Given the description of an element on the screen output the (x, y) to click on. 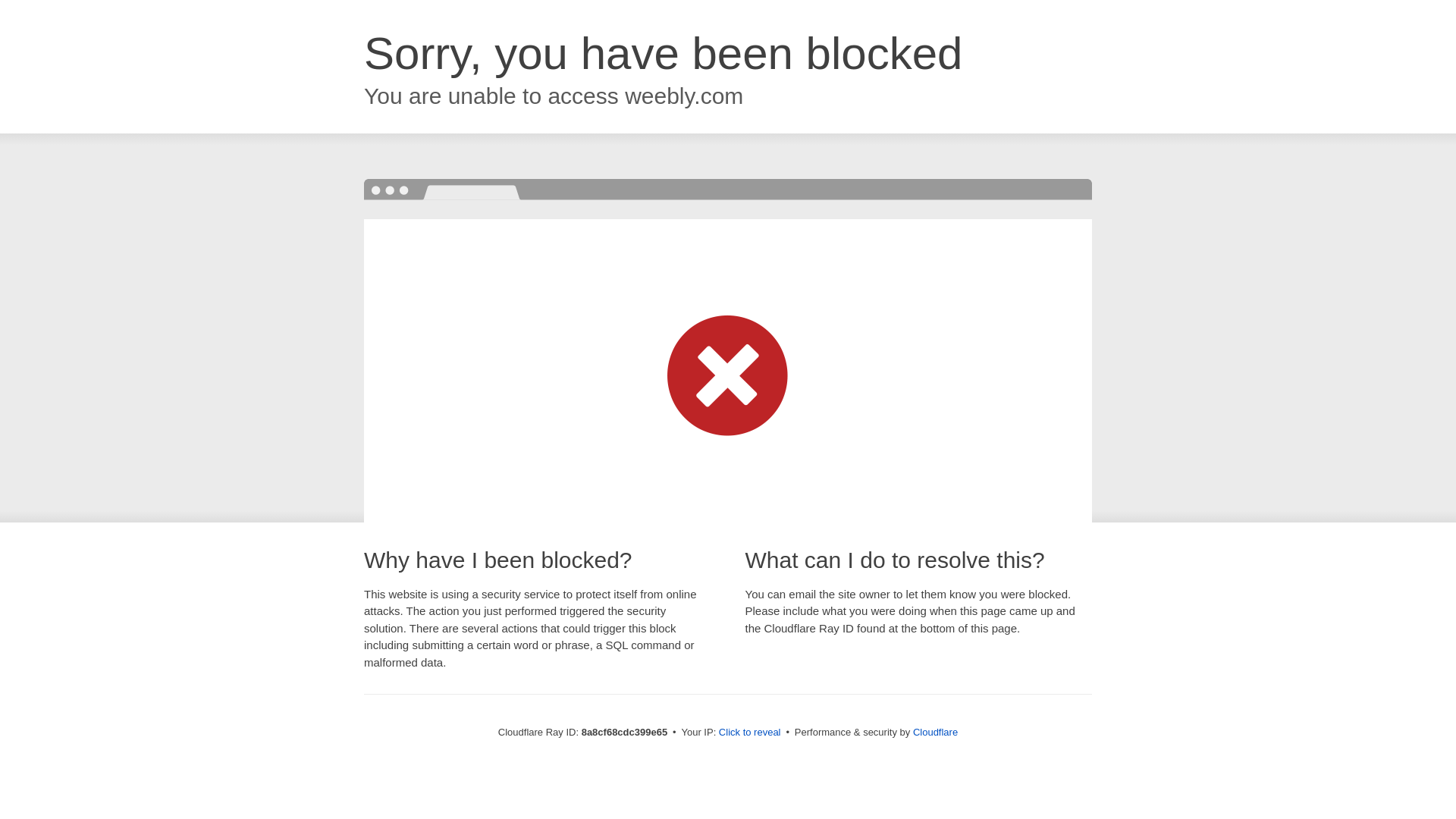
Cloudflare (935, 731)
Click to reveal (749, 732)
